Given the description of an element on the screen output the (x, y) to click on. 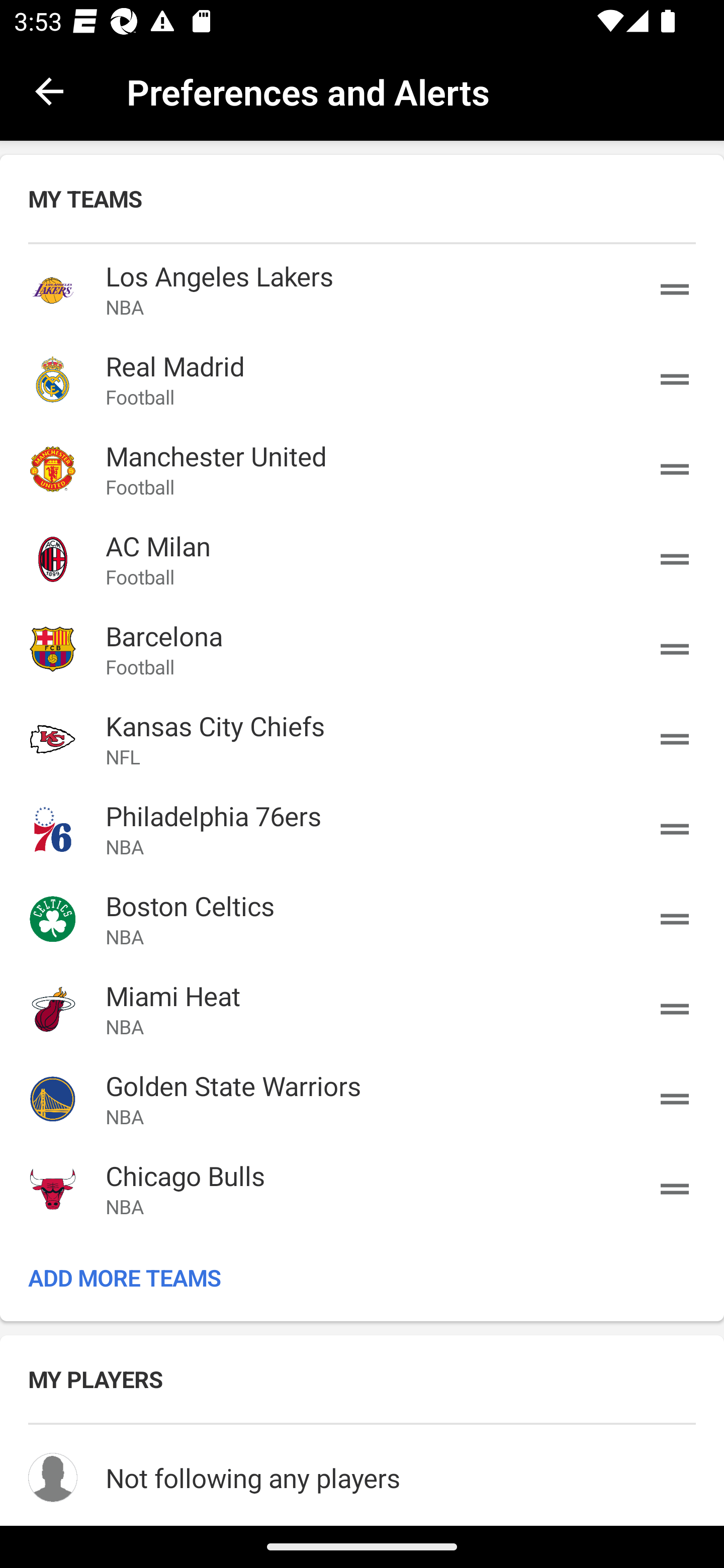
back.button (49, 90)
AC Milan AC Milan AC Milan Football Football (362, 558)
Barcelona Barcelona Barcelona Football Football (362, 648)
Miami Heat Miami Heat Miami Heat NBA NBA (362, 1008)
Chicago Bulls Chicago Bulls Chicago Bulls NBA NBA (362, 1188)
ADD MORE TEAMS (362, 1277)
